Given the description of an element on the screen output the (x, y) to click on. 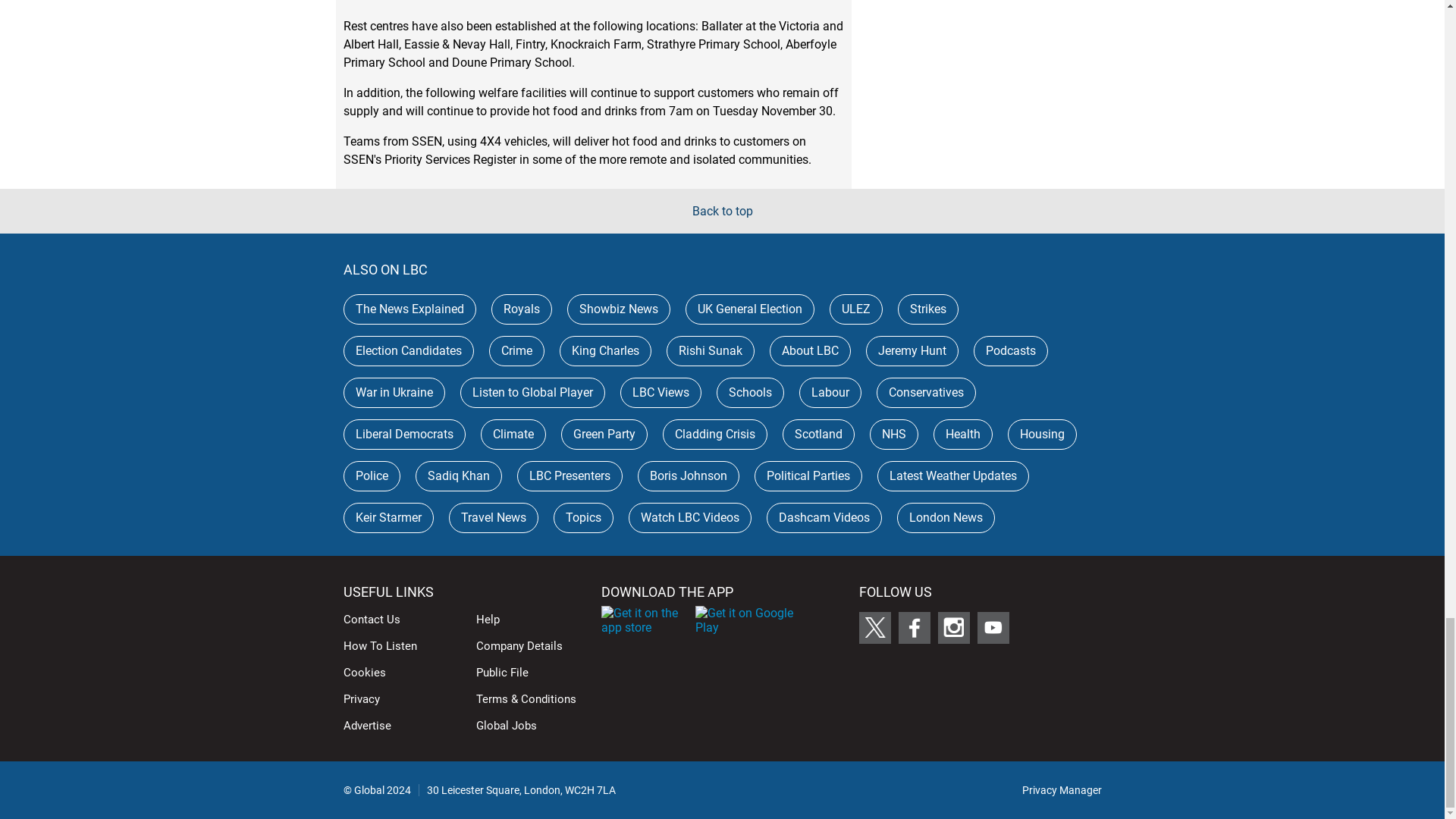
Follow LBC on X (874, 627)
Follow LBC on Instagram (953, 627)
Follow LBC on Youtube (992, 627)
Back to top (721, 210)
Follow LBC on Facebook (914, 627)
